Given the description of an element on the screen output the (x, y) to click on. 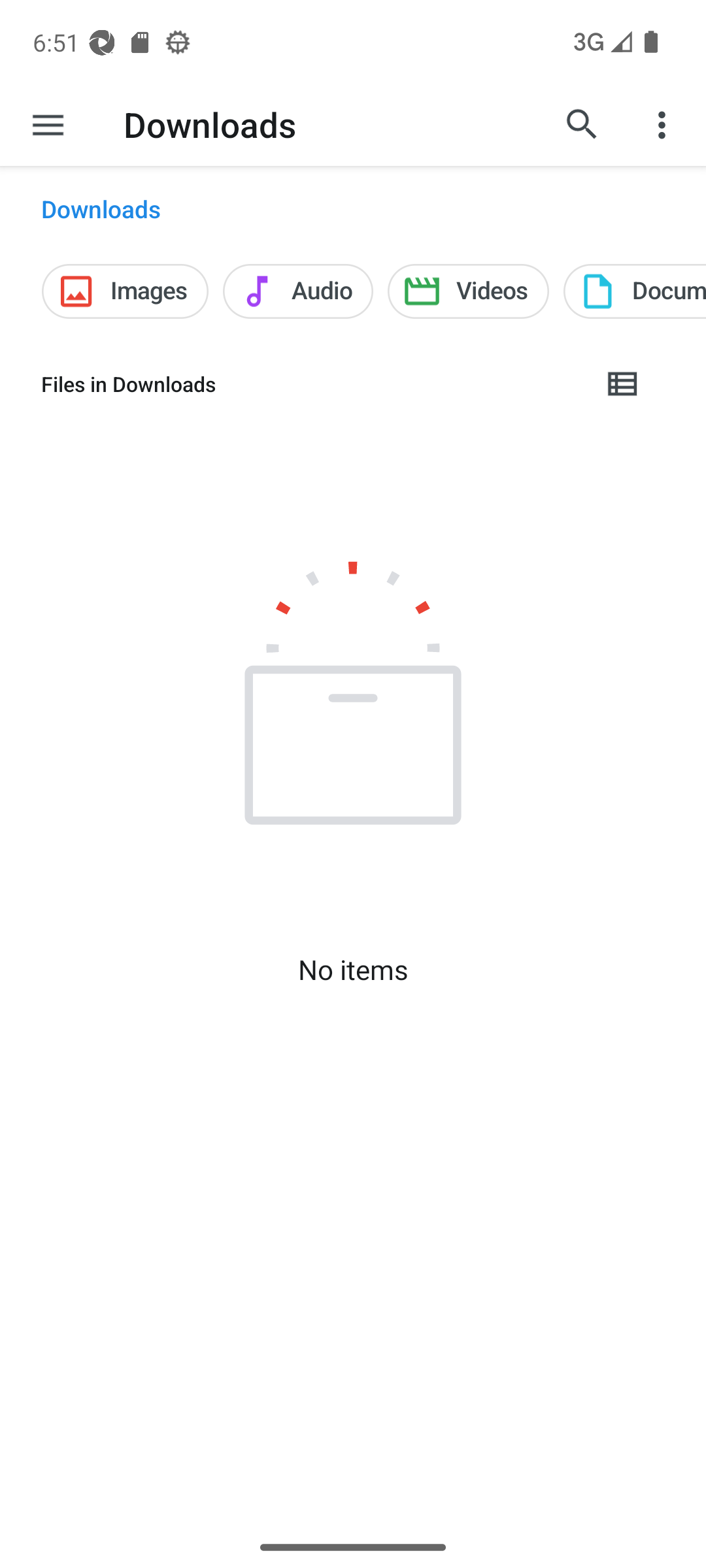
Show roots (48, 124)
Search (581, 124)
More options (664, 124)
Images (124, 291)
Audio (298, 291)
Videos (468, 291)
Documents (634, 291)
List view (623, 383)
